Given the description of an element on the screen output the (x, y) to click on. 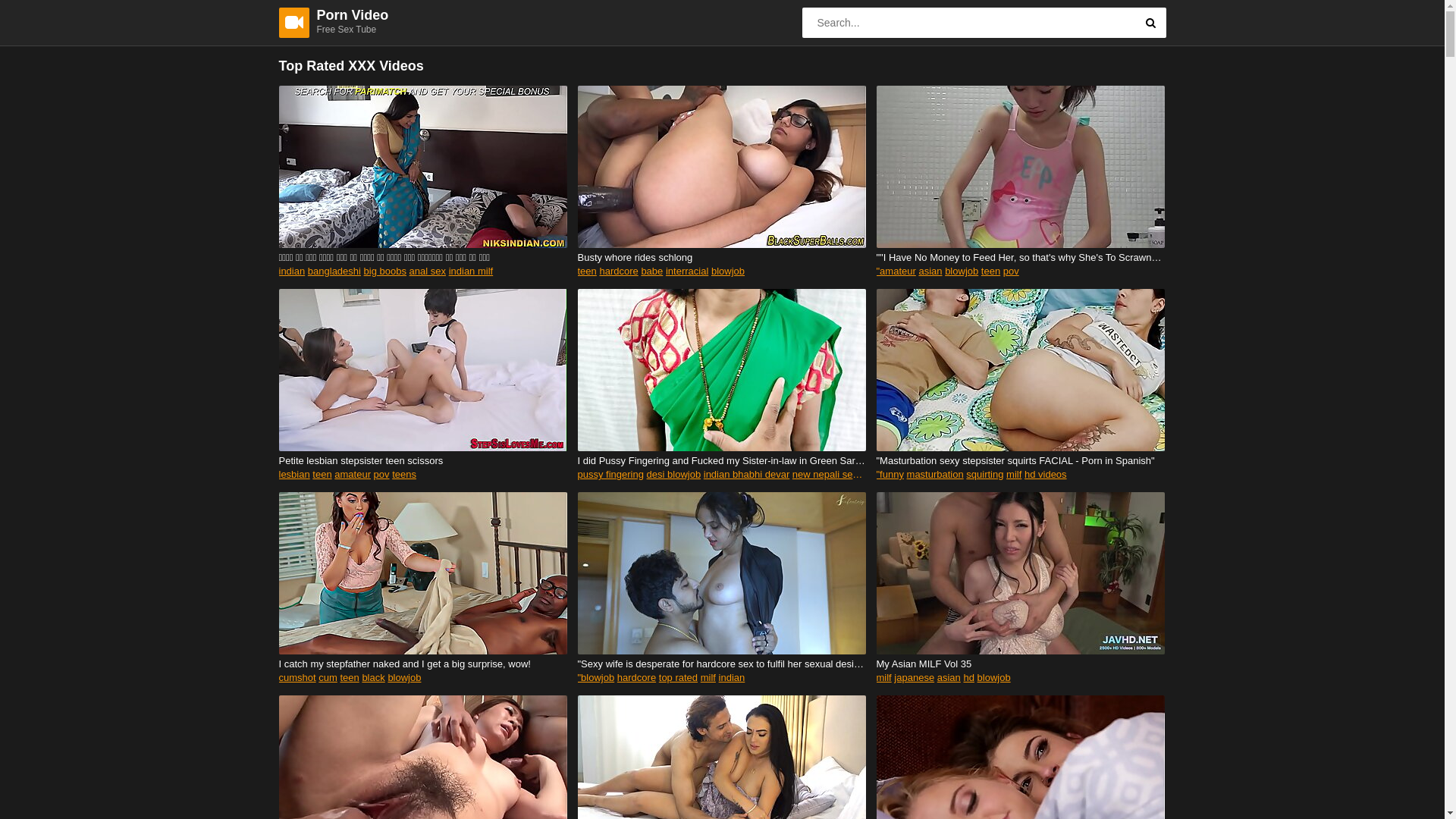
desi blowjob Element type: text (673, 474)
teens Element type: text (404, 474)
lesbian Element type: text (294, 474)
Porn Video
Free Sex Tube Element type: text (315, 20)
asian Element type: text (948, 677)
"funny Element type: text (889, 474)
"blowjob Element type: text (596, 677)
teen Element type: text (586, 270)
hardcore Element type: text (636, 677)
indian Element type: text (292, 270)
black Element type: text (372, 677)
asian Element type: text (929, 270)
anal sex Element type: text (427, 270)
babe Element type: text (651, 270)
indian Element type: text (731, 677)
pussy fingering Element type: text (610, 474)
squirting Element type: text (984, 474)
blowjob Element type: text (727, 270)
new nepali sex video Element type: text (838, 474)
cumshot Element type: text (297, 677)
amateur Element type: text (352, 474)
blowjob Element type: text (403, 677)
Petite lesbian stepsister teen scissors Element type: text (423, 460)
pov Element type: text (1011, 270)
blowjob Element type: text (993, 677)
interracial Element type: text (686, 270)
hd videos Element type: text (1045, 474)
milf Element type: text (1013, 474)
japanese Element type: text (914, 677)
I catch my stepfather naked and I get a big surprise, wow! Element type: text (423, 664)
hardcore Element type: text (618, 270)
cum Element type: text (327, 677)
milf Element type: text (707, 677)
"amateur Element type: text (896, 270)
indian milf Element type: text (470, 270)
Busty whore rides schlong Element type: text (721, 257)
indian bhabhi devar Element type: text (746, 474)
teen Element type: text (321, 474)
teen Element type: text (990, 270)
My Asian MILF Vol 35 Element type: text (1020, 664)
blowjob Element type: text (961, 270)
bangladeshi Element type: text (333, 270)
top rated Element type: text (677, 677)
hd Element type: text (968, 677)
pov Element type: text (381, 474)
milf Element type: text (883, 677)
big boobs Element type: text (385, 270)
teen Element type: text (348, 677)
masturbation Element type: text (934, 474)
